Given the description of an element on the screen output the (x, y) to click on. 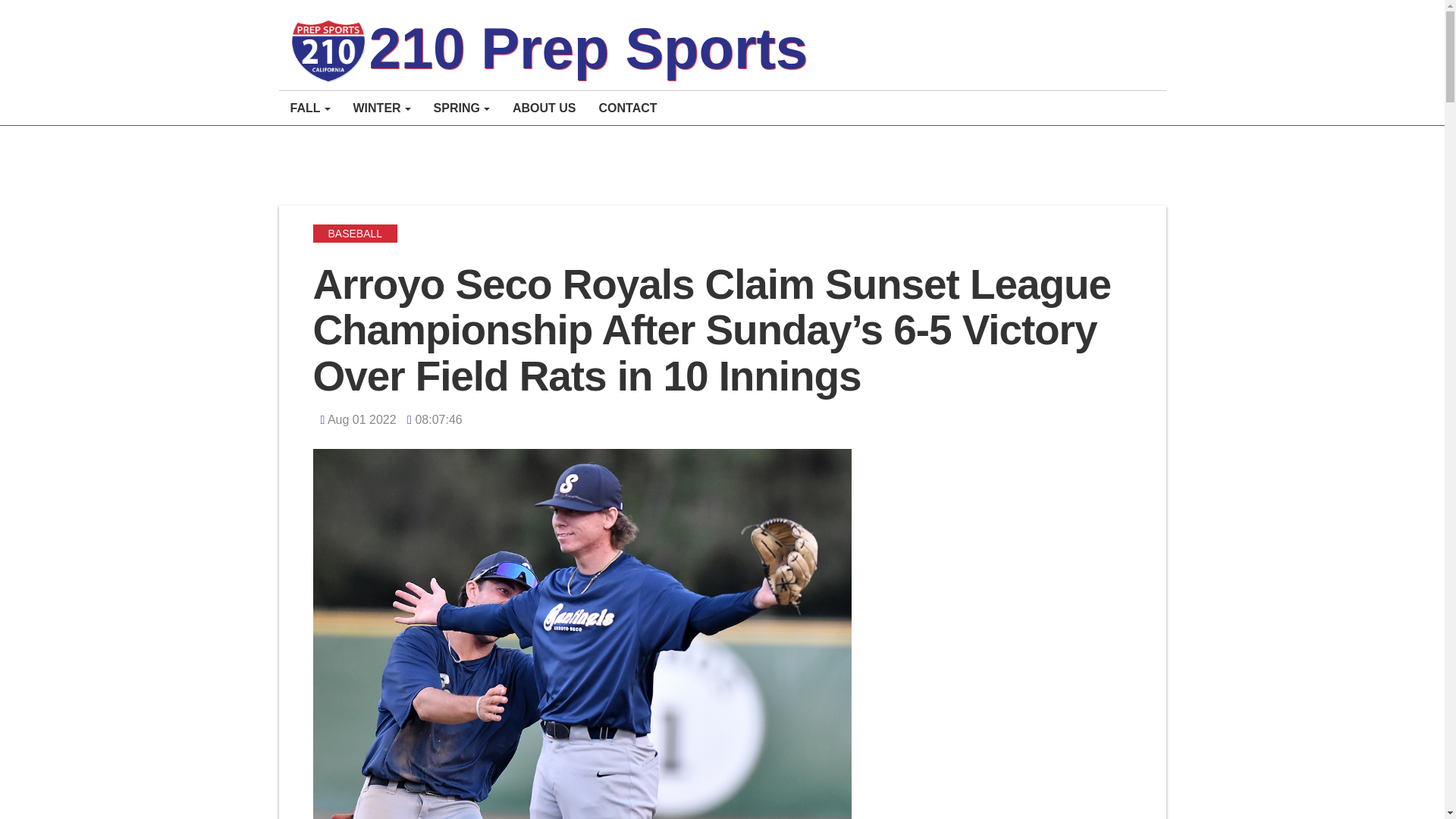
BASEBALL (354, 233)
FALL (310, 107)
210 Prep Sports (548, 49)
SPRING (461, 107)
CONTACT (628, 107)
WINTER (381, 107)
ABOUT US (544, 107)
